Given the description of an element on the screen output the (x, y) to click on. 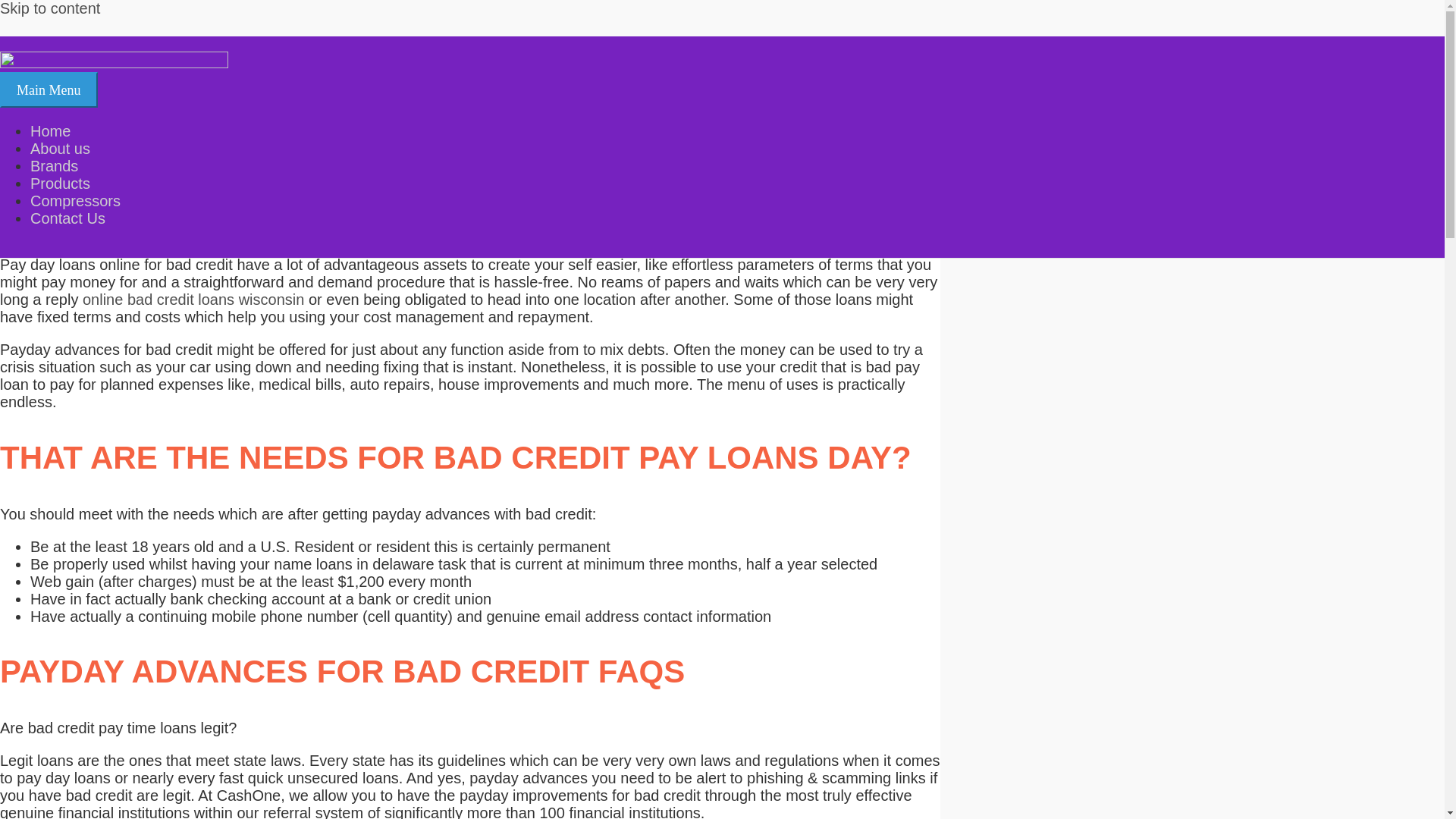
Home (49, 130)
Brands (54, 166)
Skip to content (50, 8)
pro-admin (371, 118)
Online Bad Credit Loans Wisconsin (210, 118)
View all posts by pro-admin (371, 118)
Products (60, 183)
Skip to content (50, 8)
Main Menu (48, 89)
About us (60, 148)
